Given the description of an element on the screen output the (x, y) to click on. 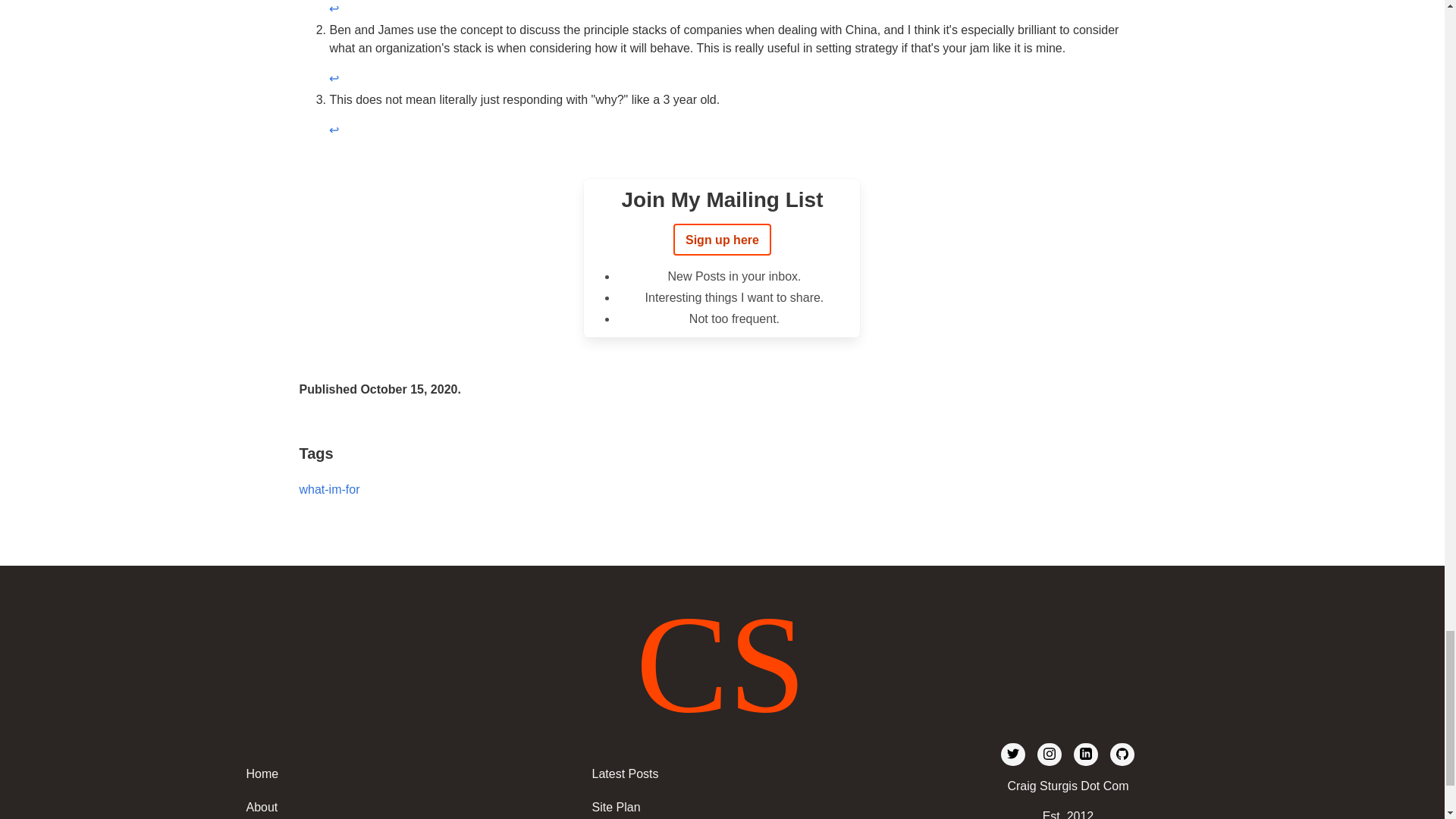
Site Plan (733, 805)
what-im-for (328, 489)
linkedin (1085, 753)
github (1121, 753)
instagram (1048, 753)
Sign up here (721, 239)
About (387, 805)
Home (387, 774)
twitter (1013, 753)
Latest Posts (733, 774)
